Given the description of an element on the screen output the (x, y) to click on. 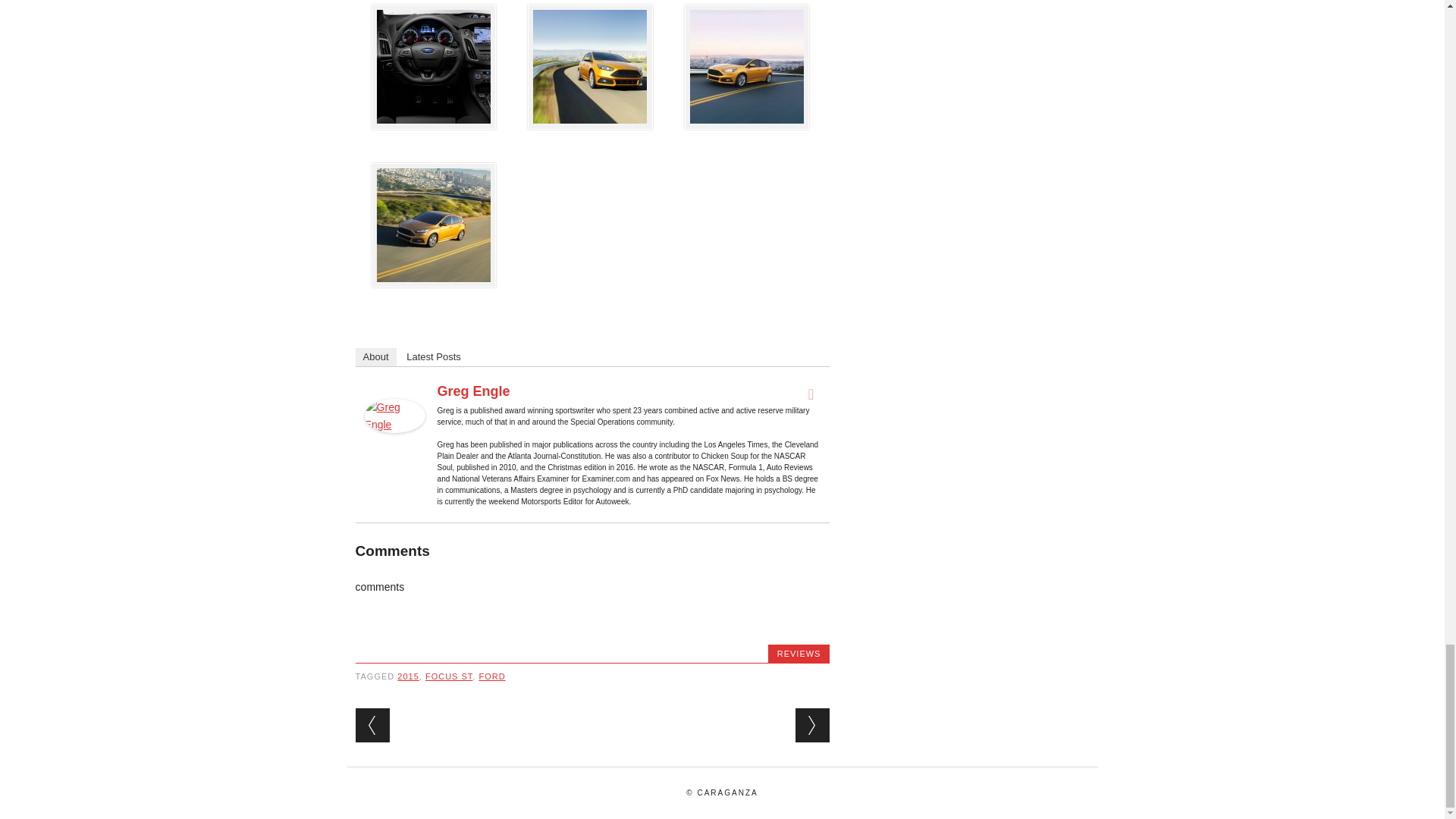
REVIEWS (799, 653)
About (375, 357)
Latest Posts (433, 357)
Greg Engle (395, 447)
Twitter (810, 393)
Greg Engle (474, 391)
2015 (408, 675)
